Given the description of an element on the screen output the (x, y) to click on. 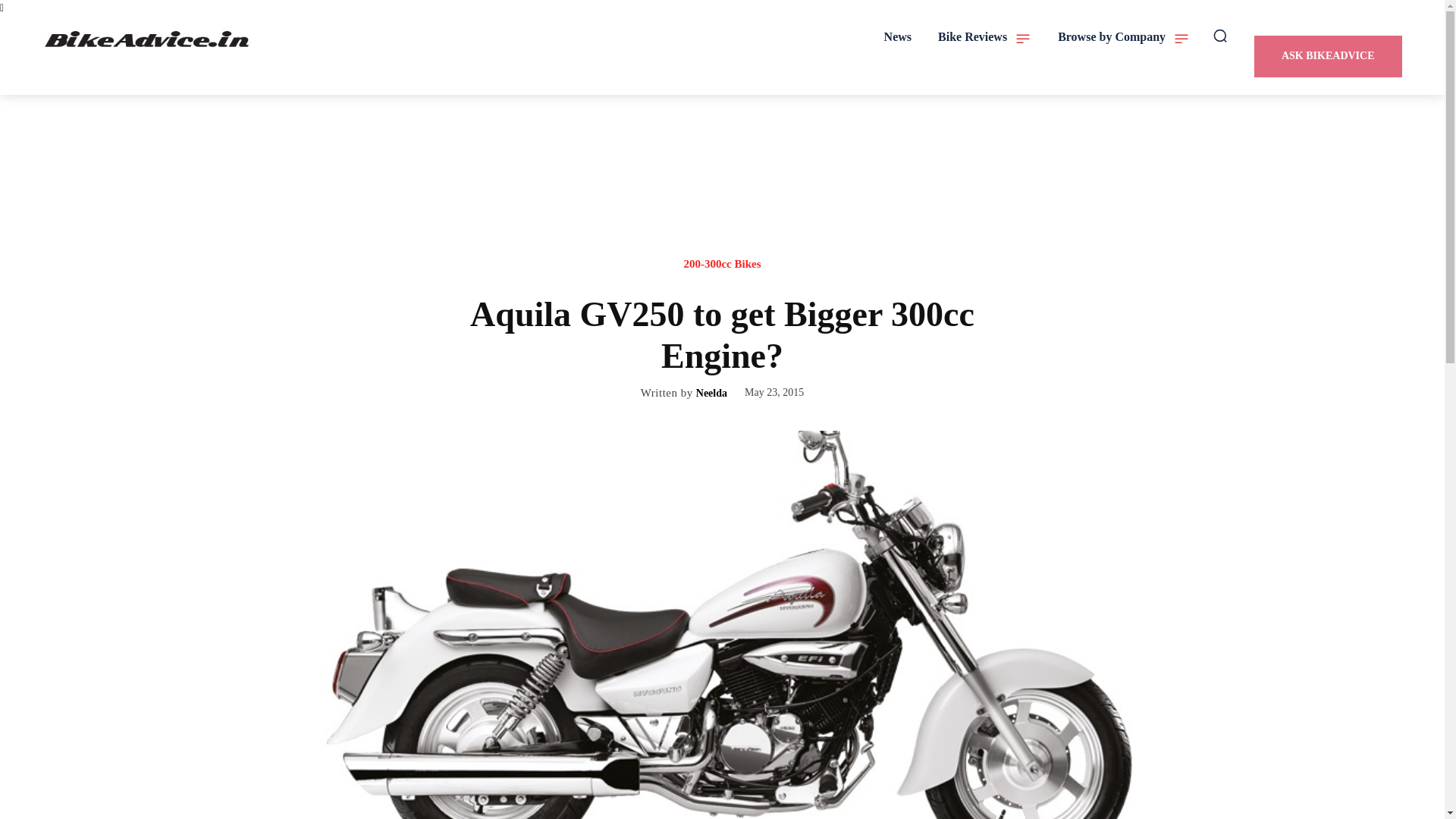
Latest Bike News, Reviews, Spy Pics (148, 38)
Browse by Company (1123, 36)
Ask BikeAdvice (1327, 56)
Advertisement (722, 189)
Bike Reviews (984, 36)
